Given the description of an element on the screen output the (x, y) to click on. 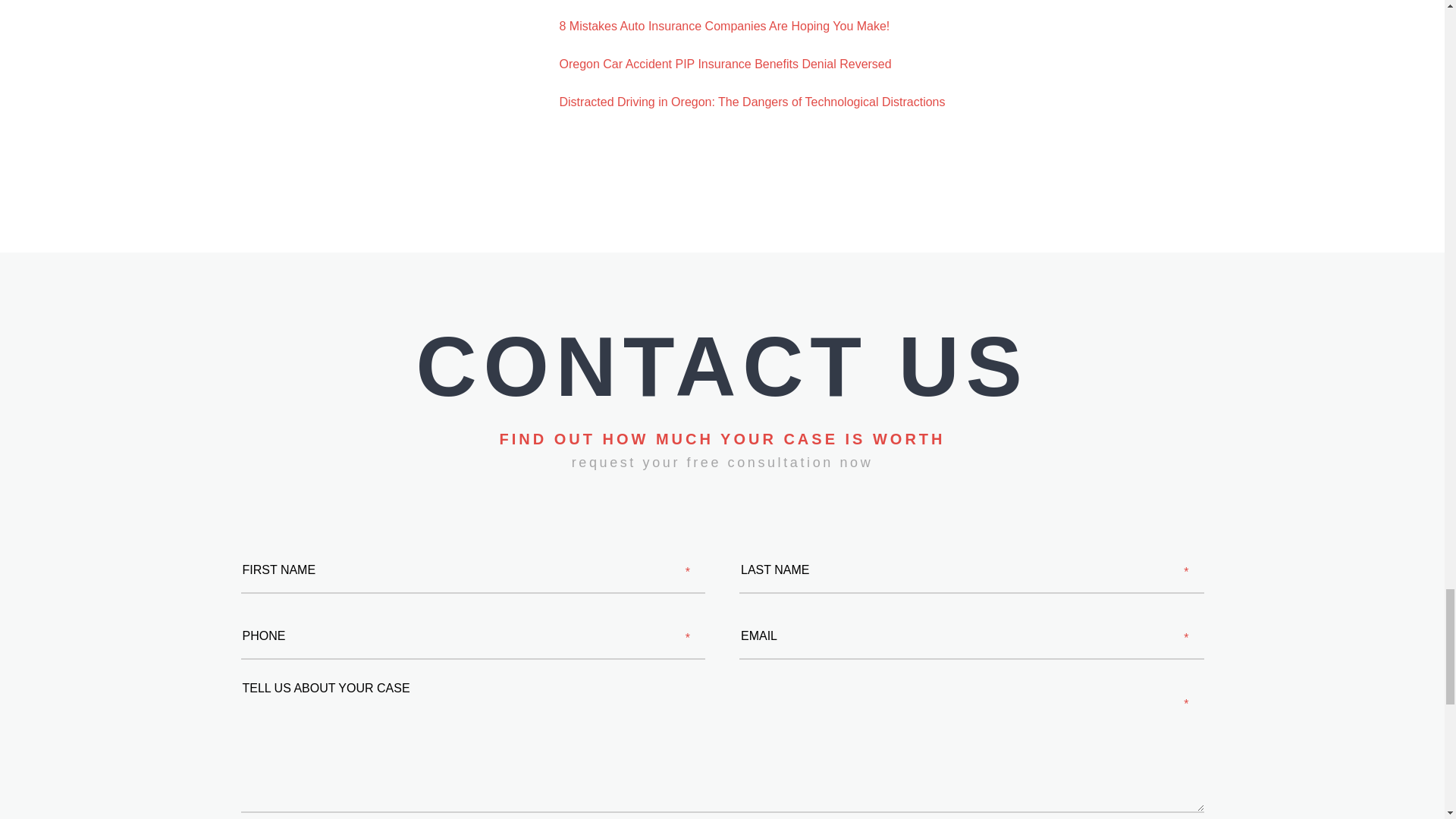
Oregon Car Accident PIP Insurance Benefits Denial Reversed (725, 63)
8 Mistakes Insurance Companies Are Hoping You Make! (724, 25)
